Given the description of an element on the screen output the (x, y) to click on. 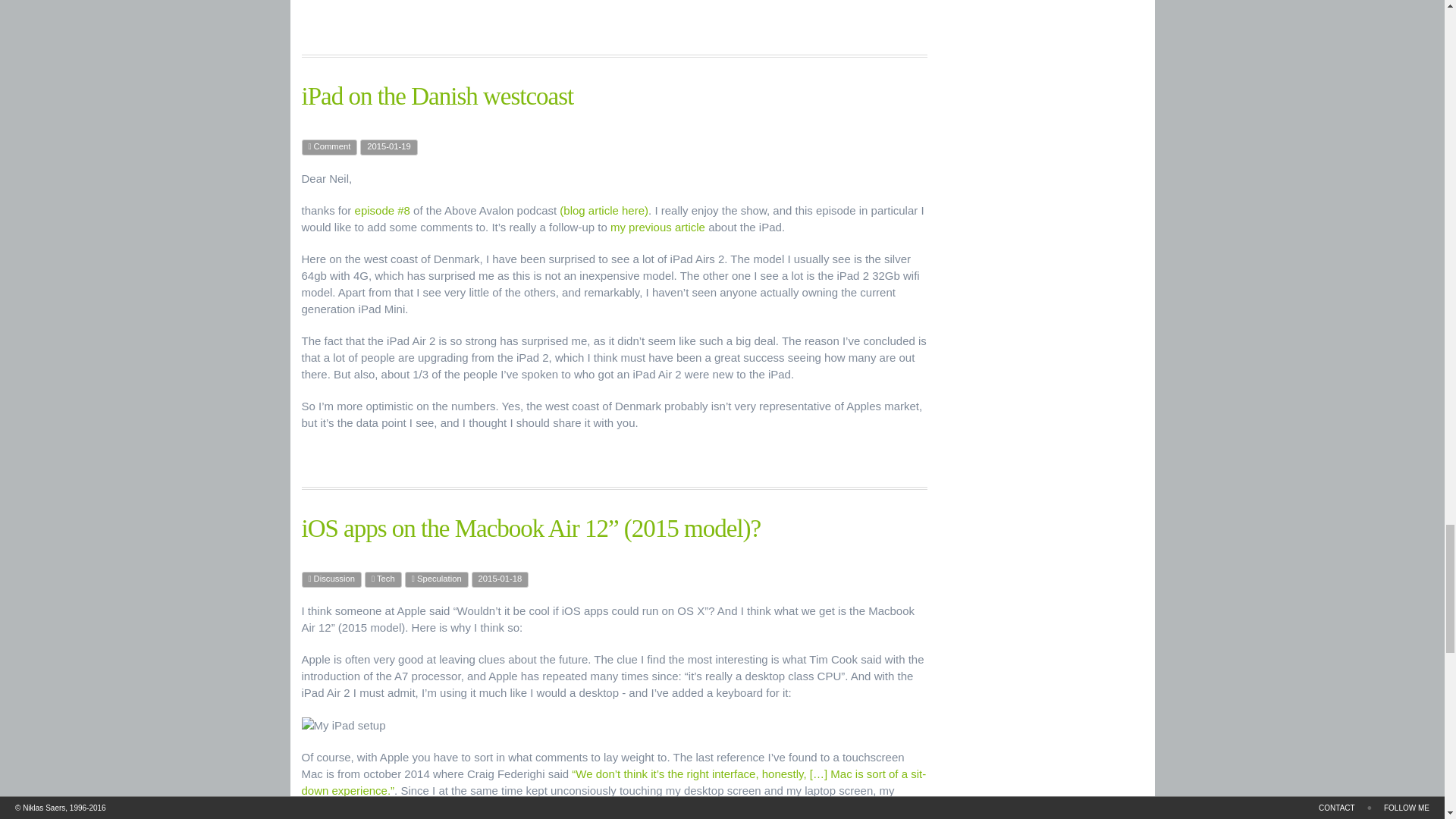
My iPad setup (343, 725)
